Given the description of an element on the screen output the (x, y) to click on. 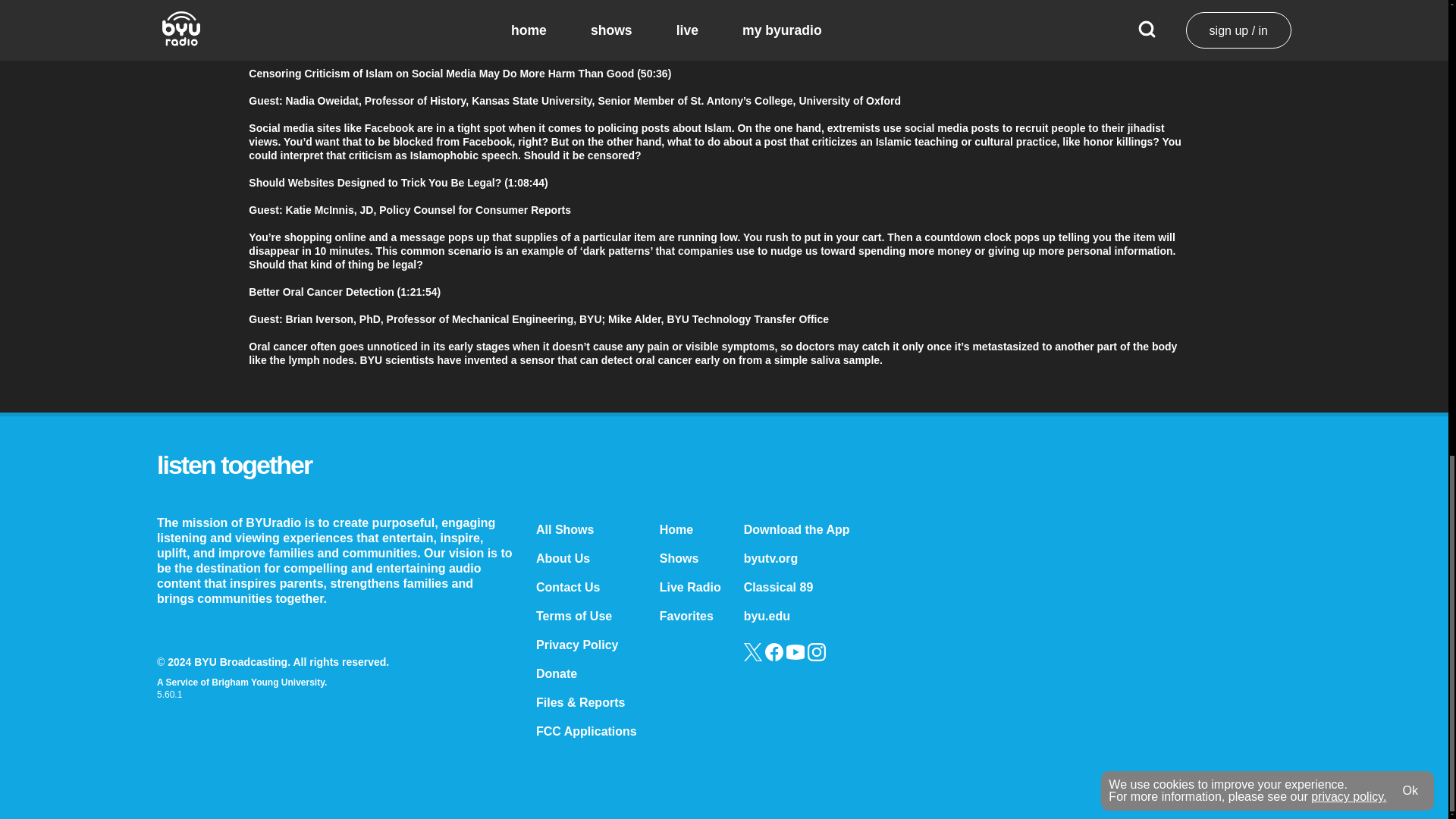
Privacy Policy (576, 644)
Home (676, 529)
Classical 89 (778, 586)
Download the App (797, 529)
byutv.org (770, 558)
Donate (555, 673)
Contact Us (567, 586)
Favorites (686, 615)
Shows (678, 558)
All Shows (564, 529)
